Given the description of an element on the screen output the (x, y) to click on. 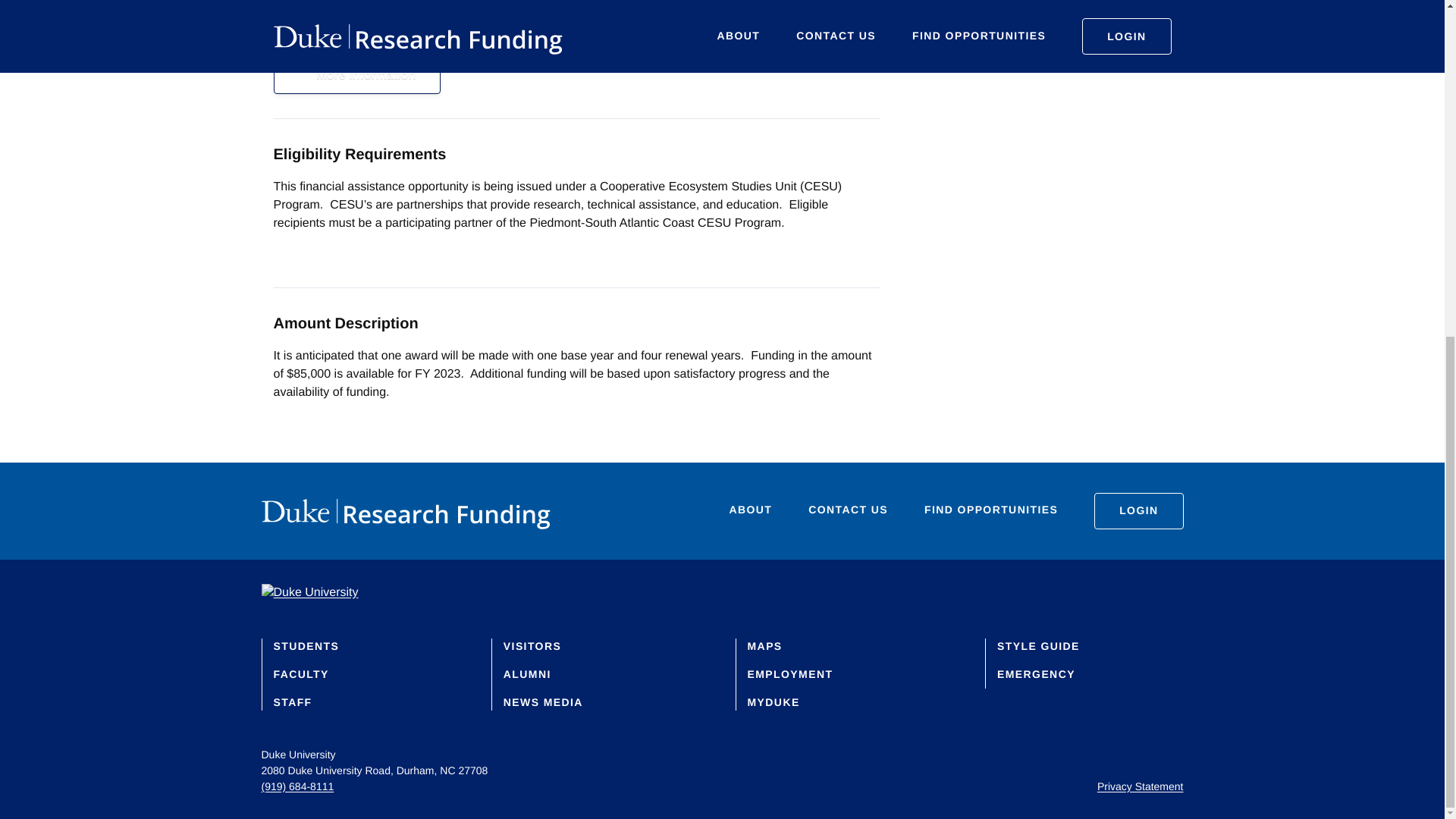
More Information (357, 75)
CONTACT US (848, 510)
STAFF (292, 702)
ABOUT (751, 510)
ALUMNI (527, 674)
EMPLOYMENT (790, 674)
MAPS (765, 645)
LOGIN (1138, 511)
STUDENTS (306, 645)
NEWS MEDIA (543, 702)
